Given the description of an element on the screen output the (x, y) to click on. 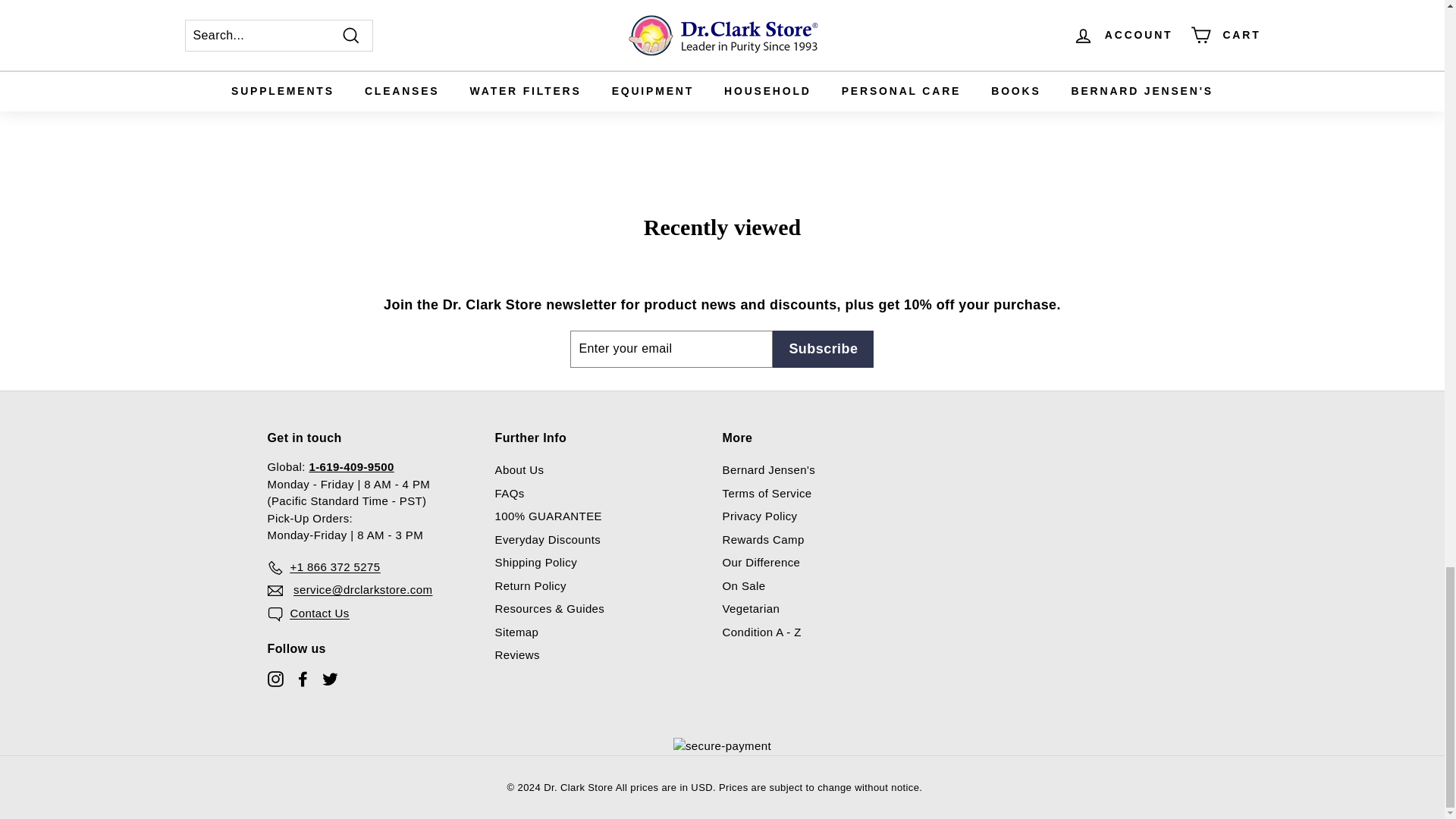
Dr. Clark Store on Facebook (302, 678)
Dr. Clark Store on Twitter (329, 678)
Dr. Clark Store on Instagram (274, 678)
